Given the description of an element on the screen output the (x, y) to click on. 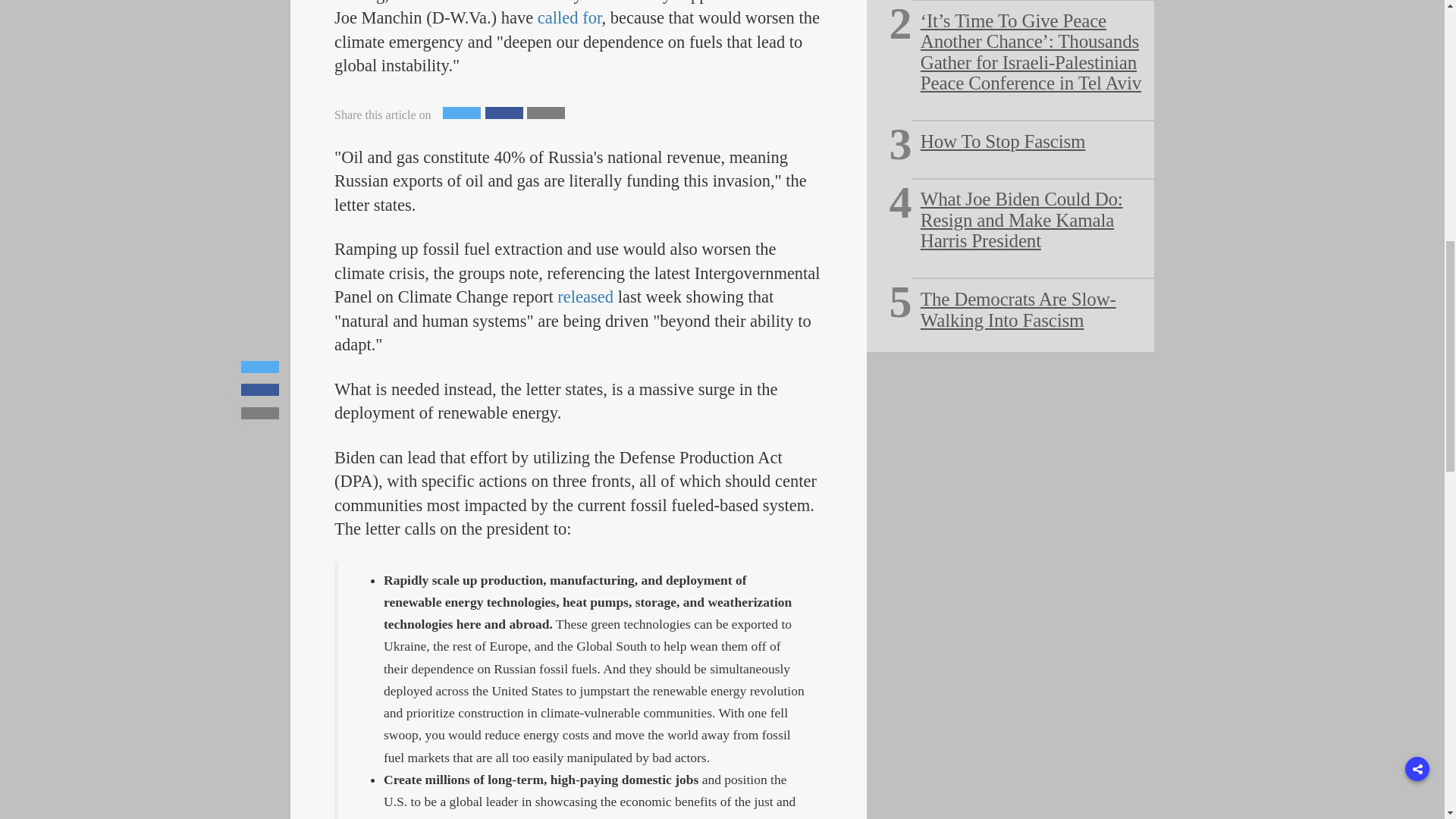
Twitter (461, 112)
Facebook (503, 112)
Mail (545, 112)
released (584, 296)
Mail (545, 112)
Twitter (461, 112)
called for (569, 17)
Facebook (503, 112)
